Given the description of an element on the screen output the (x, y) to click on. 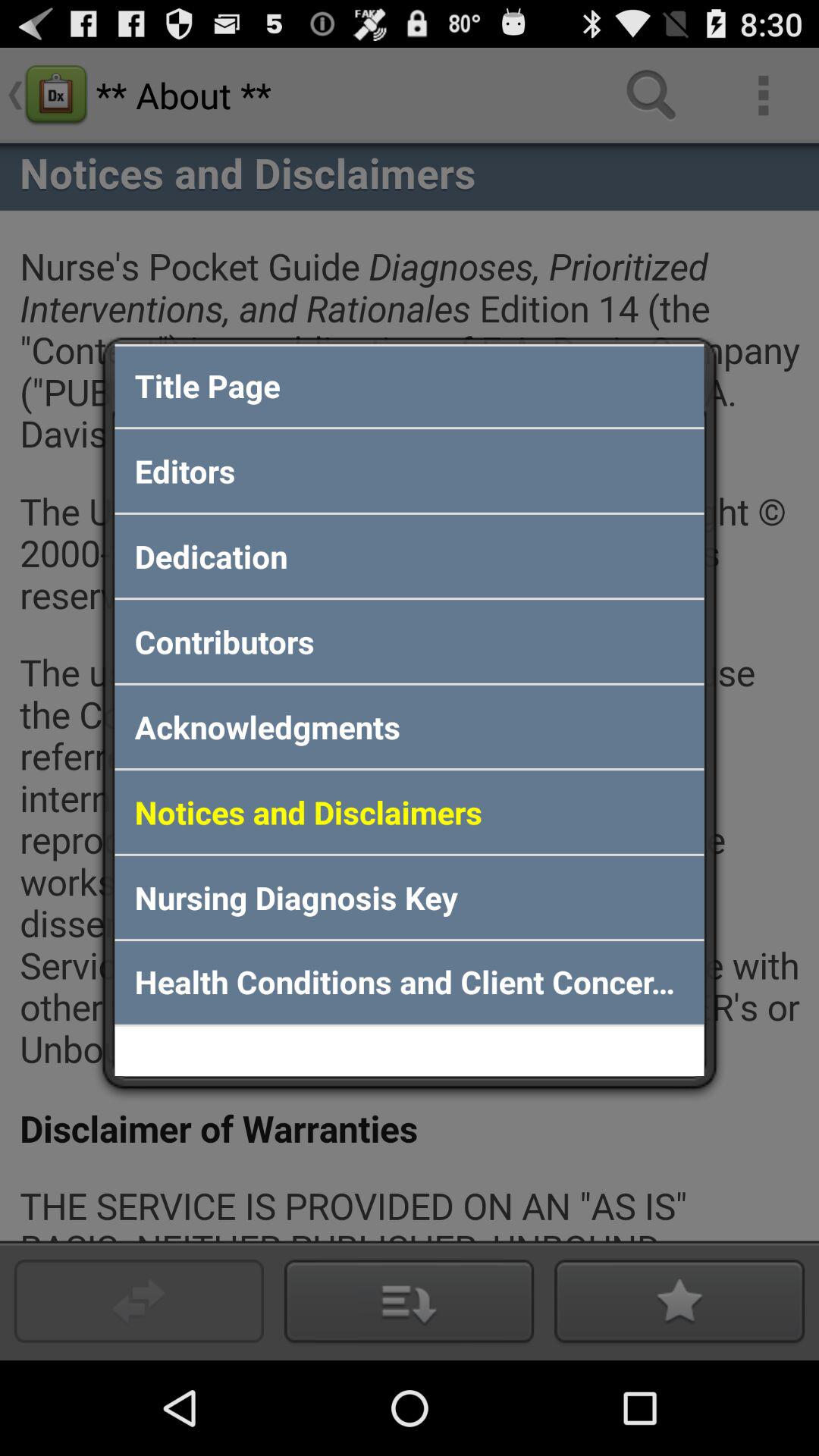
launch app below dedication (409, 641)
